Given the description of an element on the screen output the (x, y) to click on. 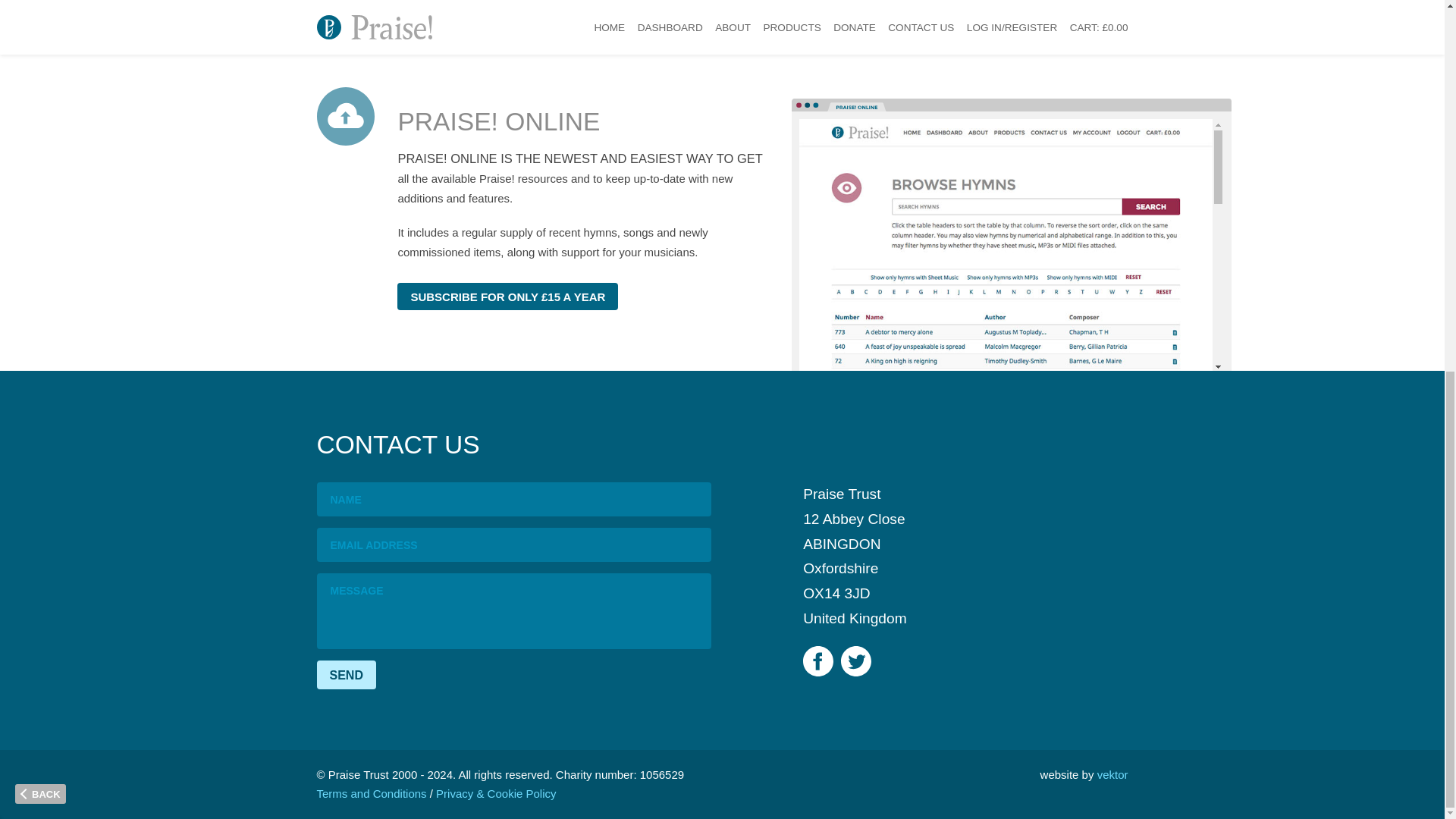
Send (346, 674)
Send (346, 674)
Facebook (817, 661)
vektor (1112, 774)
Terms and Conditions (371, 793)
Twitter (855, 661)
BACK (39, 117)
